Given the description of an element on the screen output the (x, y) to click on. 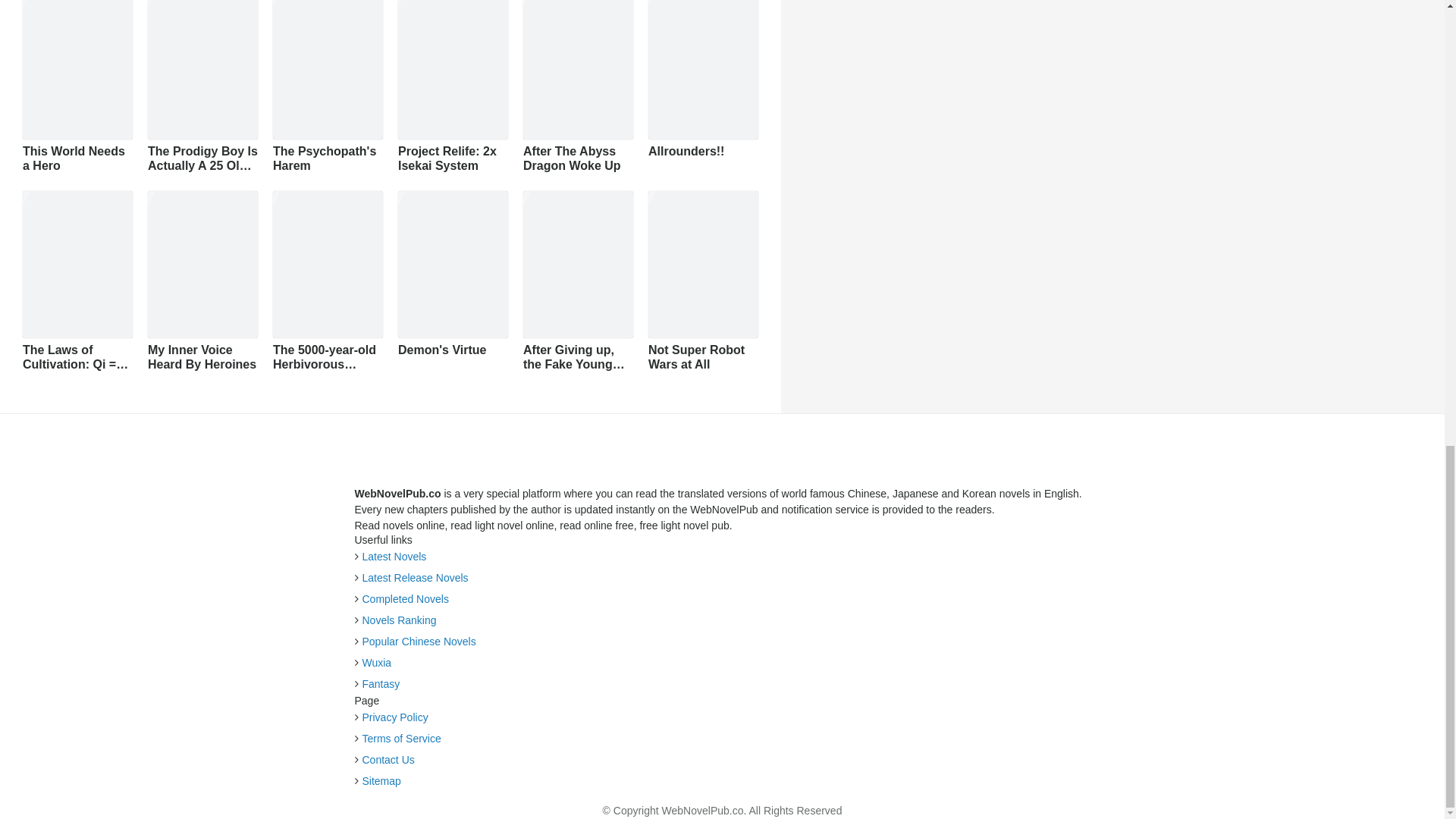
Latest Novels (394, 556)
